Given the description of an element on the screen output the (x, y) to click on. 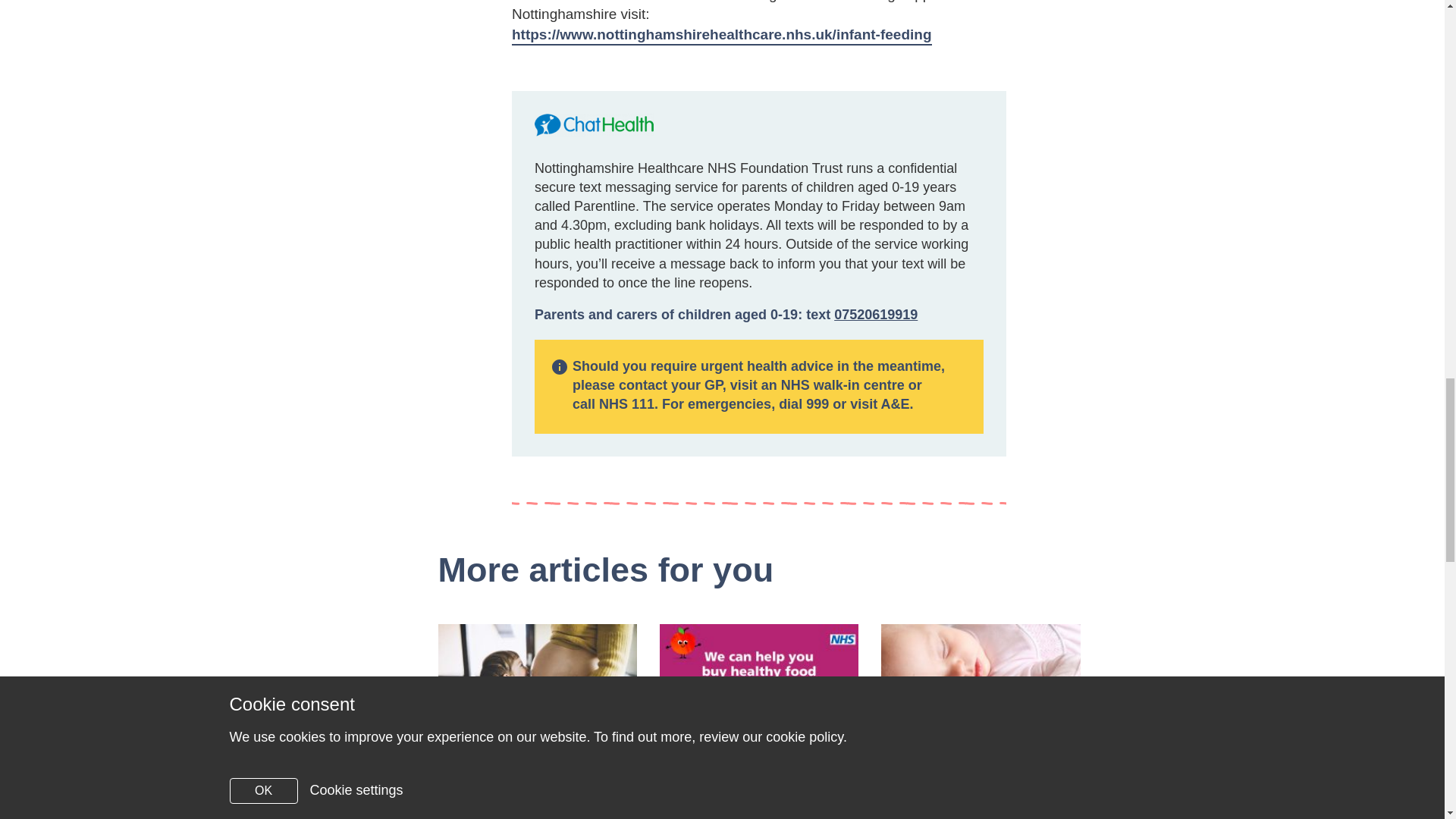
Chat Health (593, 124)
Pregnancy (573, 811)
Practicalities (1016, 811)
News (795, 811)
baby sleeping on back 750 x 422 (980, 679)
